Given the description of an element on the screen output the (x, y) to click on. 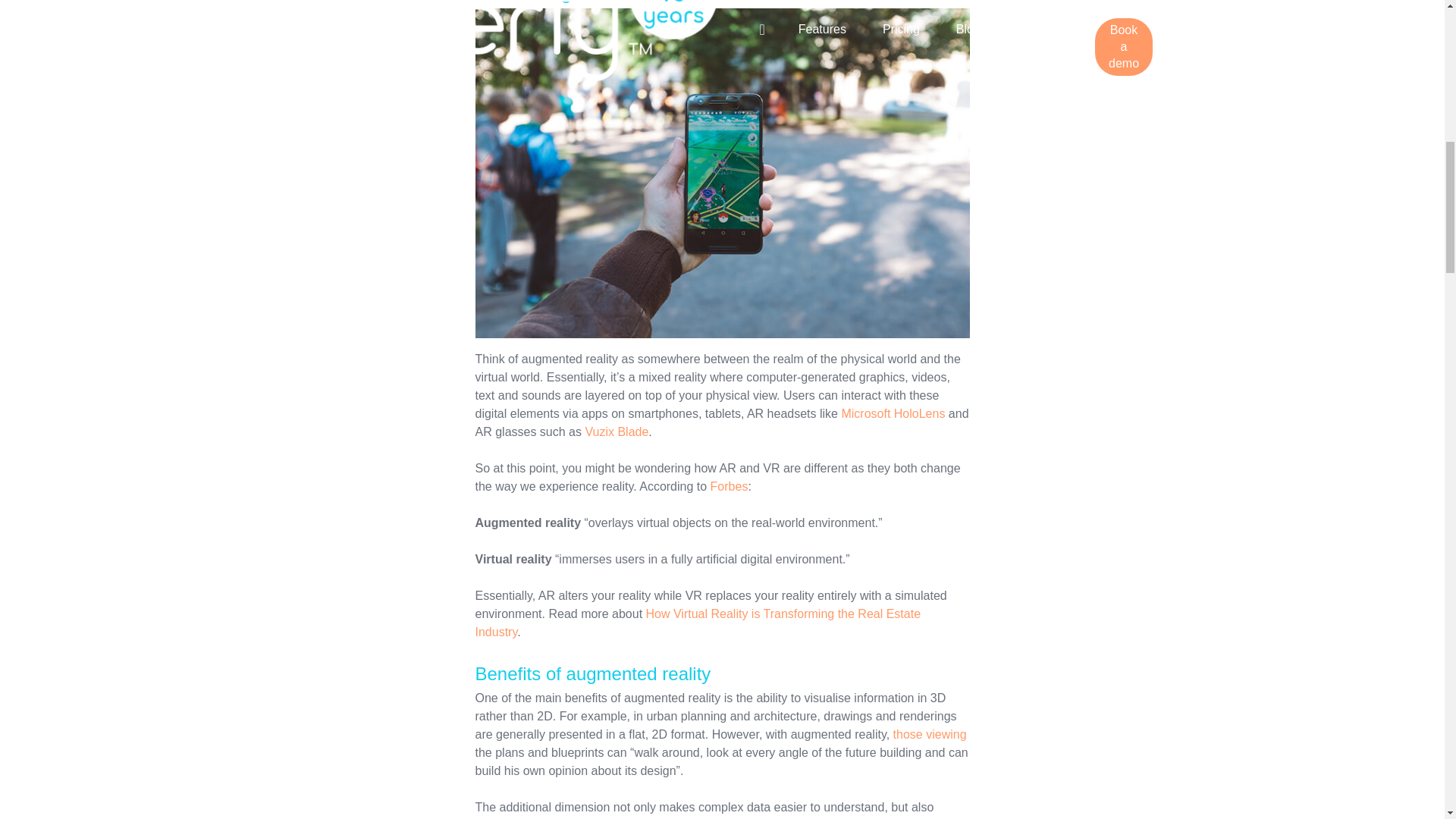
Vuzix Blade (616, 431)
Microsoft HoloLens (892, 413)
How Virtual Reality is Transforming the Real Estate Industry (697, 622)
Forbes (729, 486)
those viewing (929, 734)
